Given the description of an element on the screen output the (x, y) to click on. 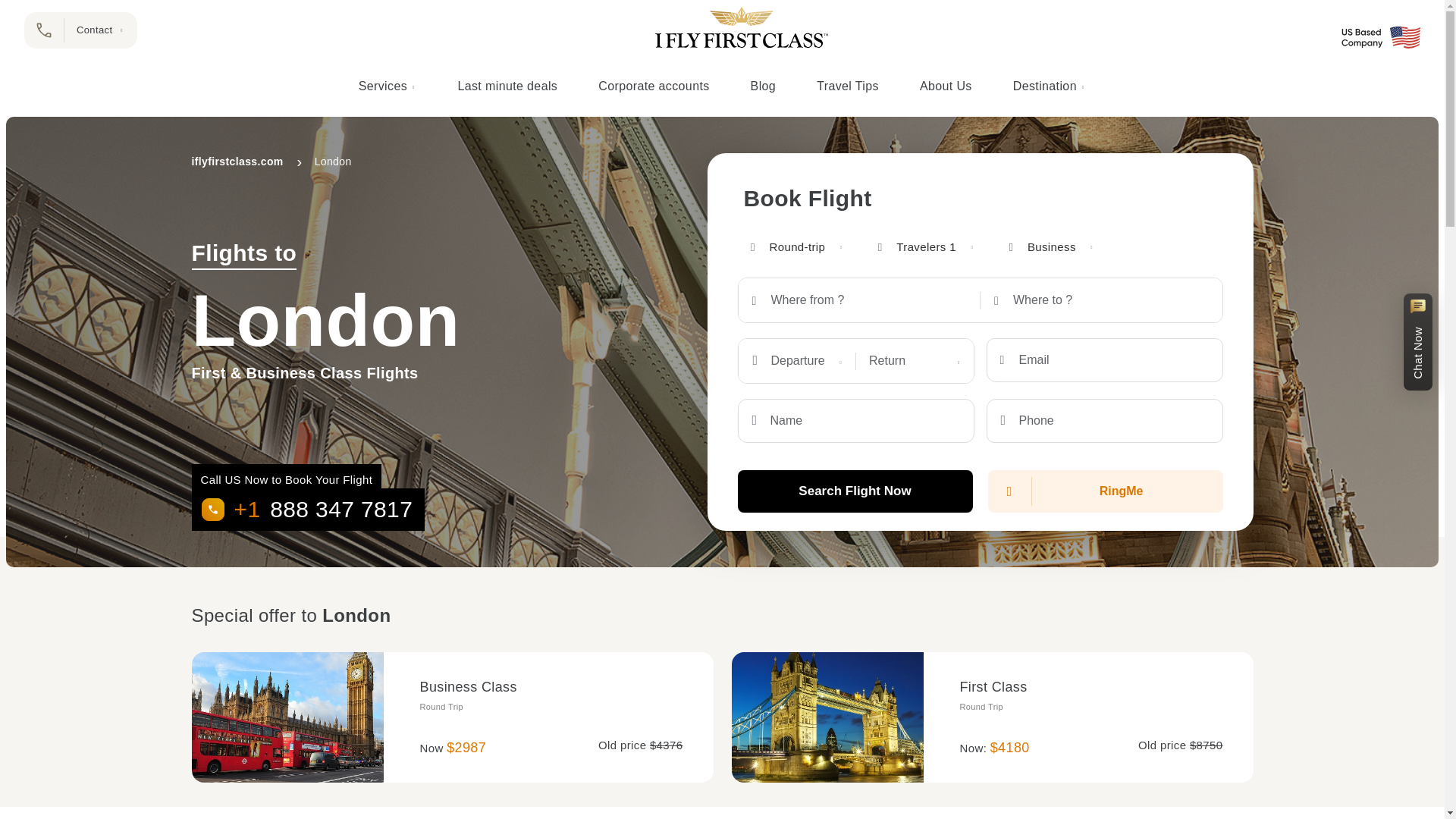
Business Class Discounted Flight to London (286, 716)
Travel Tips (847, 86)
First Class Airline Tickets to London (826, 716)
Corporate accounts (653, 86)
About Us (946, 86)
Last minute deals (507, 86)
Blog (763, 86)
